Given the description of an element on the screen output the (x, y) to click on. 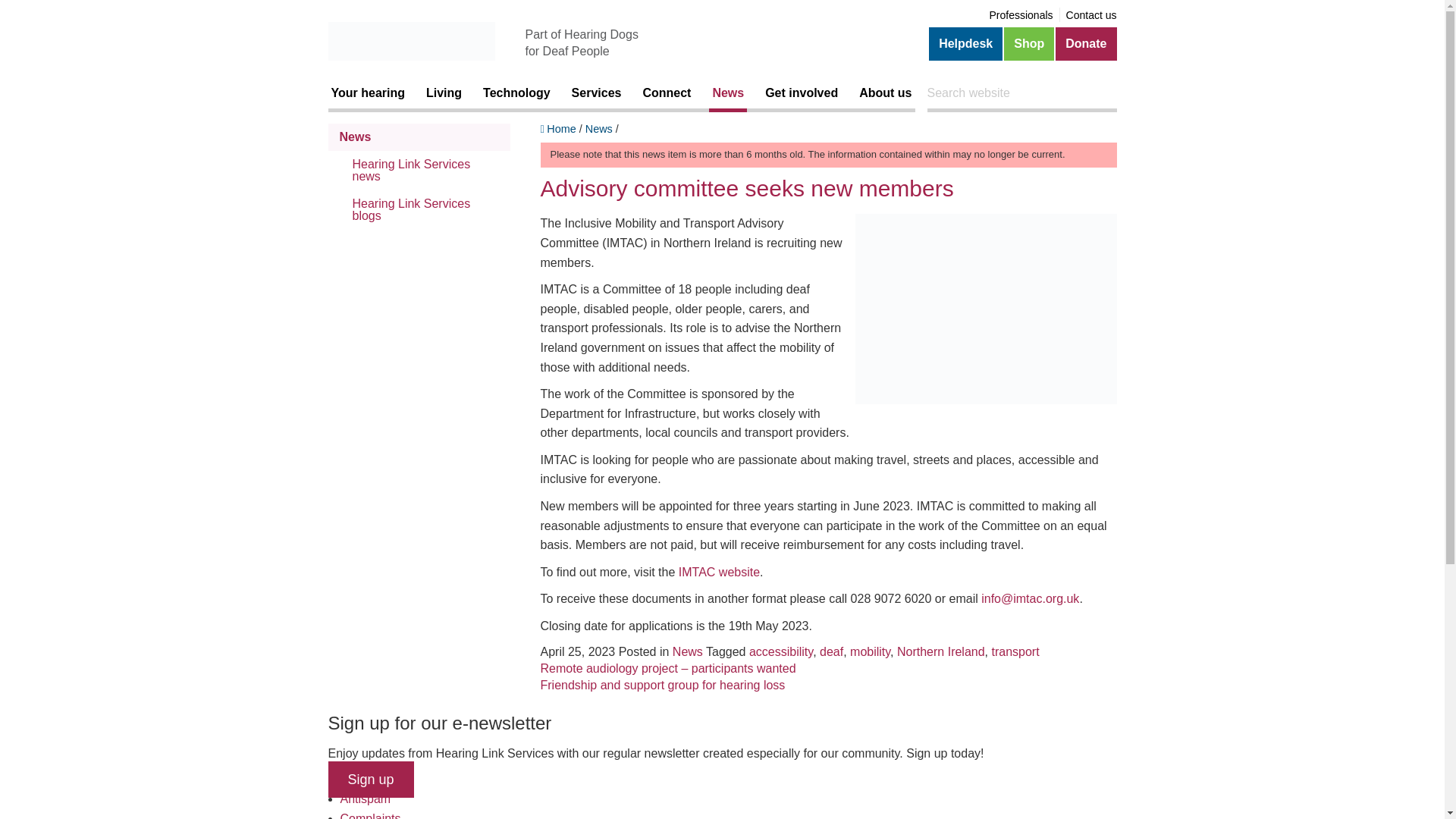
Contact us (1090, 15)
Living (443, 93)
Professionals (1021, 15)
Your hearing (367, 93)
Donate (1085, 43)
Helpdesk (965, 43)
Shop (1029, 43)
